Given the description of an element on the screen output the (x, y) to click on. 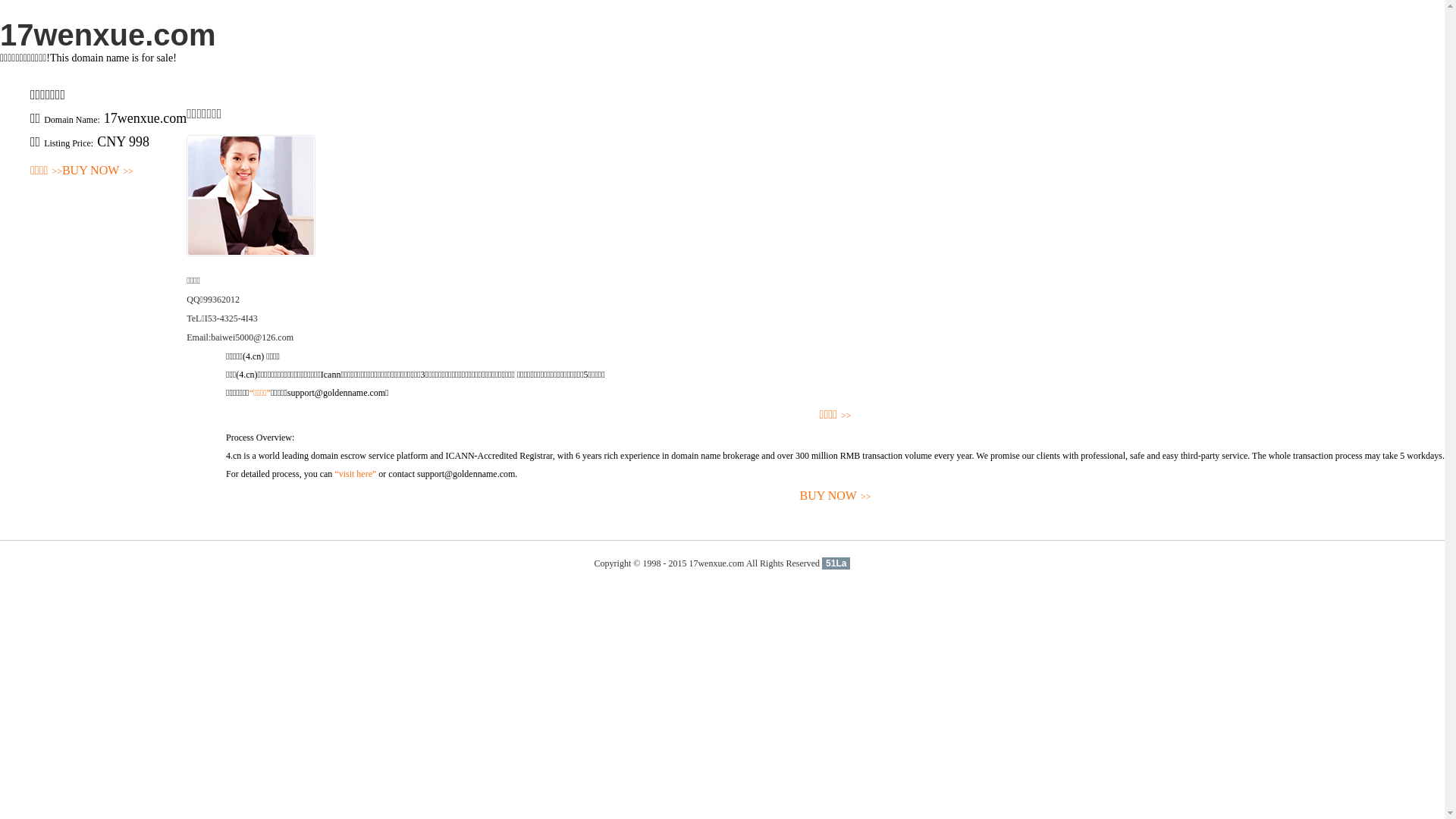
BUY NOW>> Element type: text (834, 496)
51La Element type: text (836, 563)
BUY NOW>> Element type: text (97, 170)
